Given the description of an element on the screen output the (x, y) to click on. 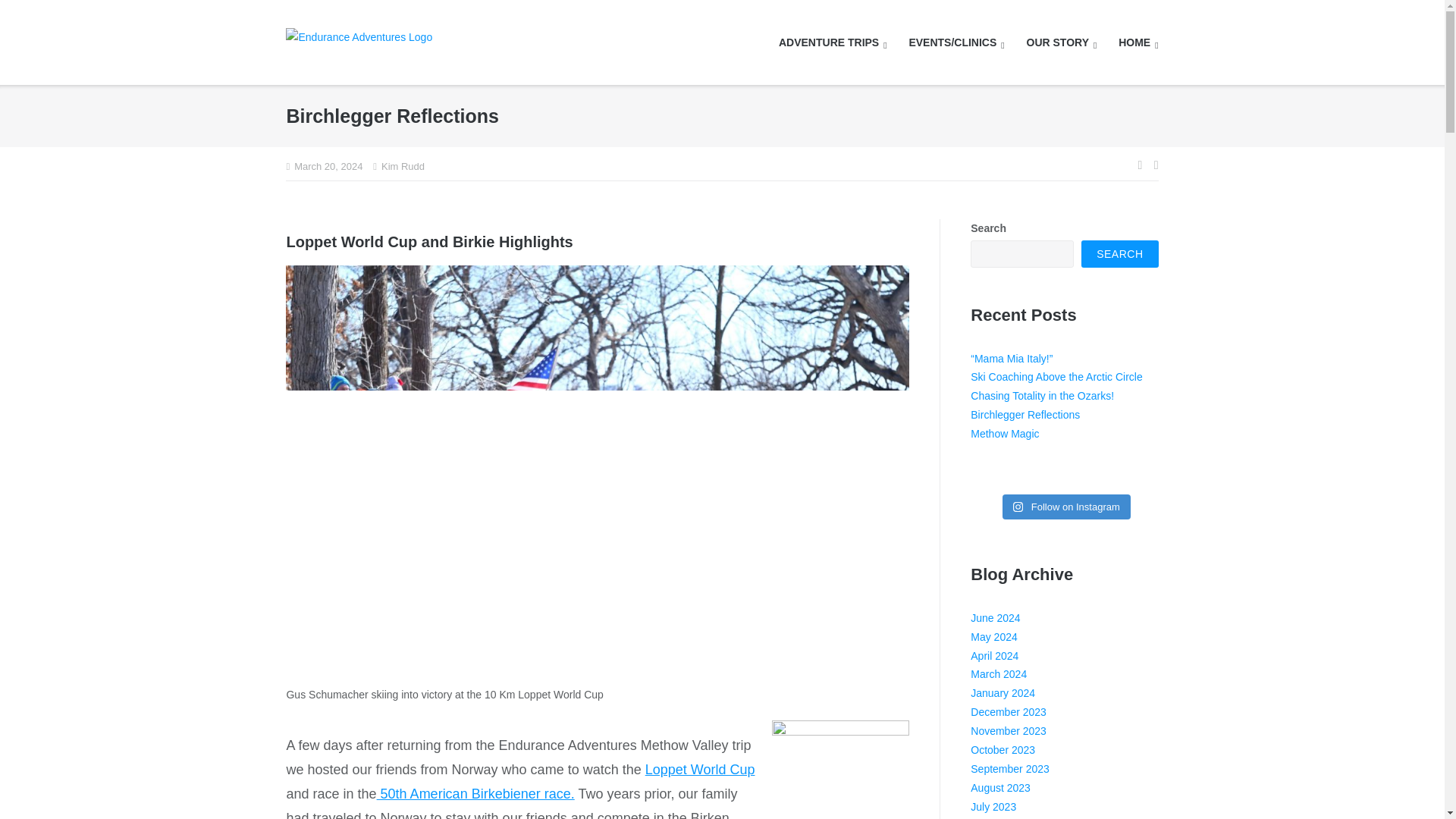
Kim Rudd (403, 166)
OUR STORY (1061, 42)
SEARCH (1119, 253)
ADVENTURE TRIPS (832, 42)
Loppet World Cup (700, 769)
50th American Birkebiener race. (476, 793)
HOME (1137, 42)
